Given the description of an element on the screen output the (x, y) to click on. 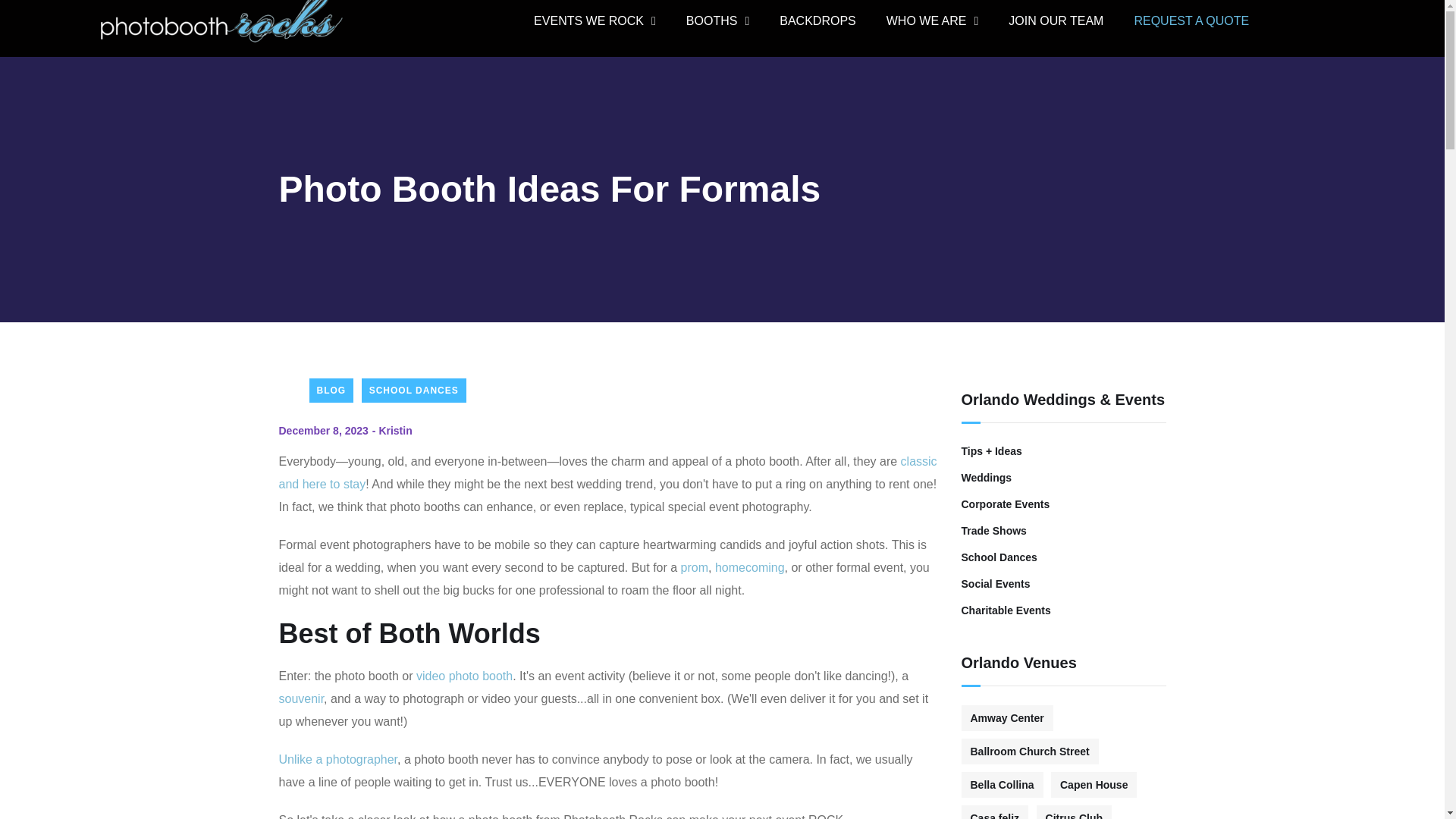
WHO WE ARE (932, 21)
REQUEST A QUOTE (1190, 21)
JOIN OUR TEAM (1055, 21)
EVENTS WE ROCK (594, 21)
BACKDROPS (817, 21)
BOOTHS (717, 21)
